Given the description of an element on the screen output the (x, y) to click on. 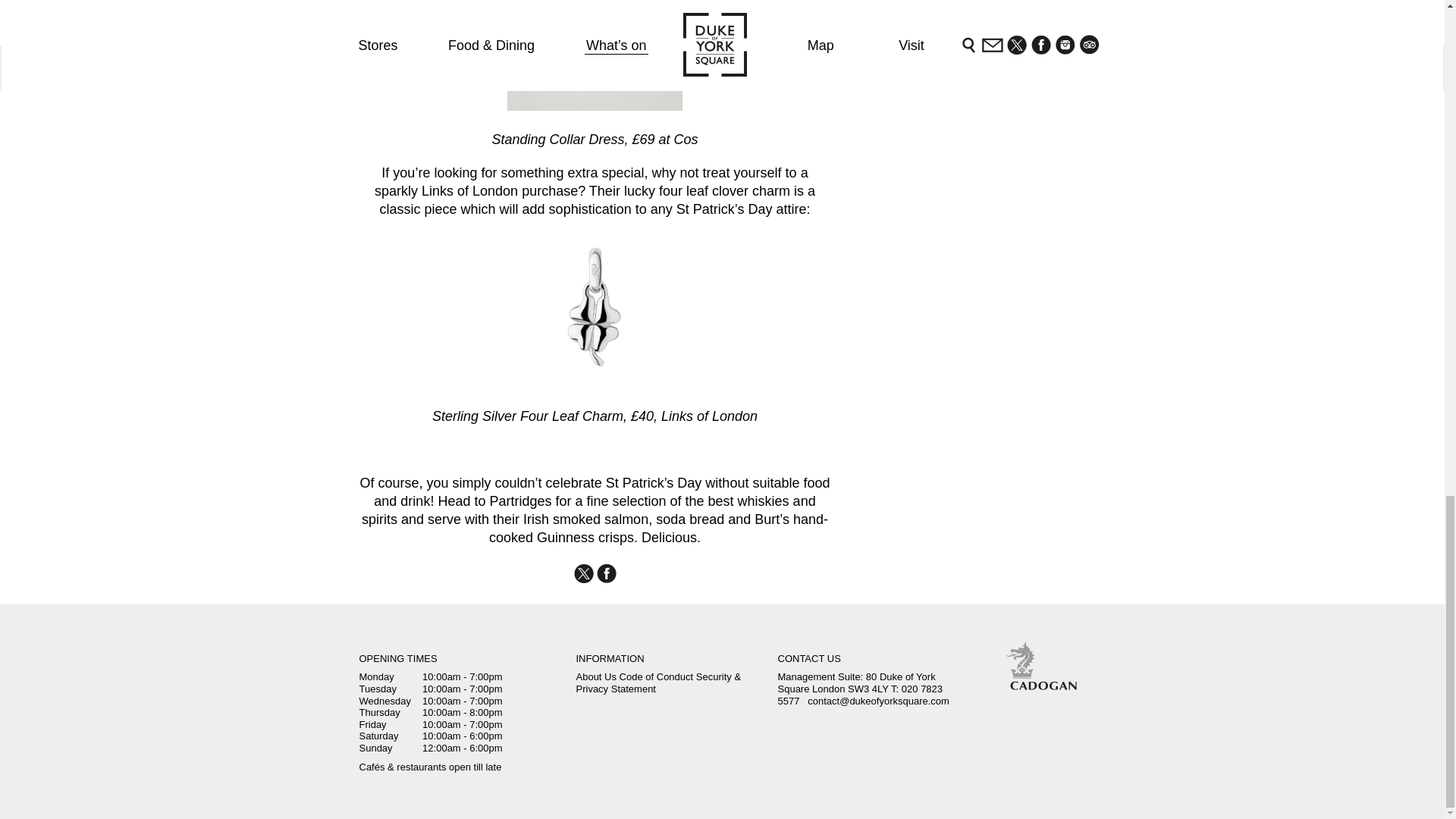
facebook (605, 572)
twitter (583, 572)
